Given the description of an element on the screen output the (x, y) to click on. 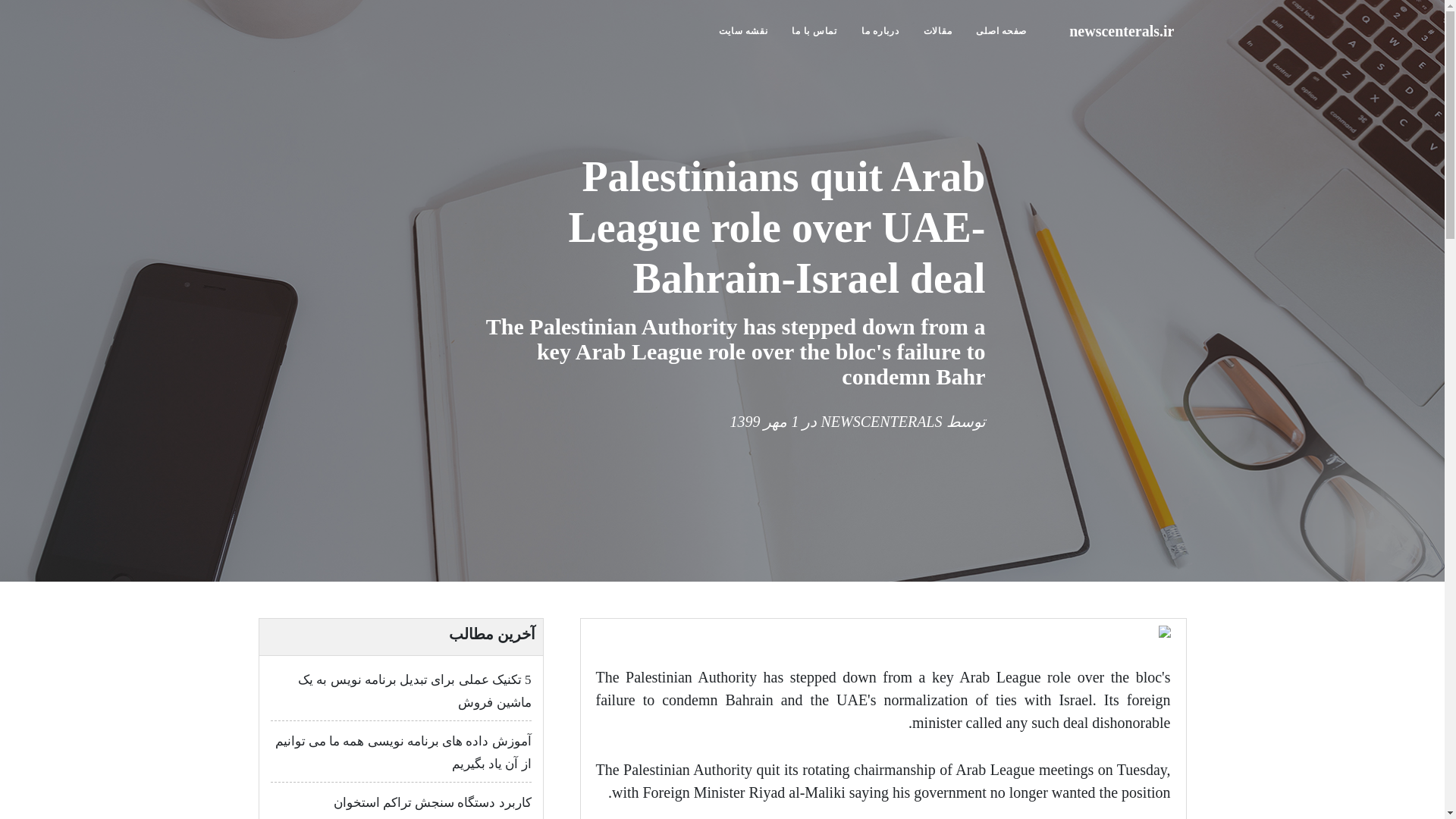
NEWSCENTERALS (881, 421)
newscenterals.ir (1120, 30)
